Given the description of an element on the screen output the (x, y) to click on. 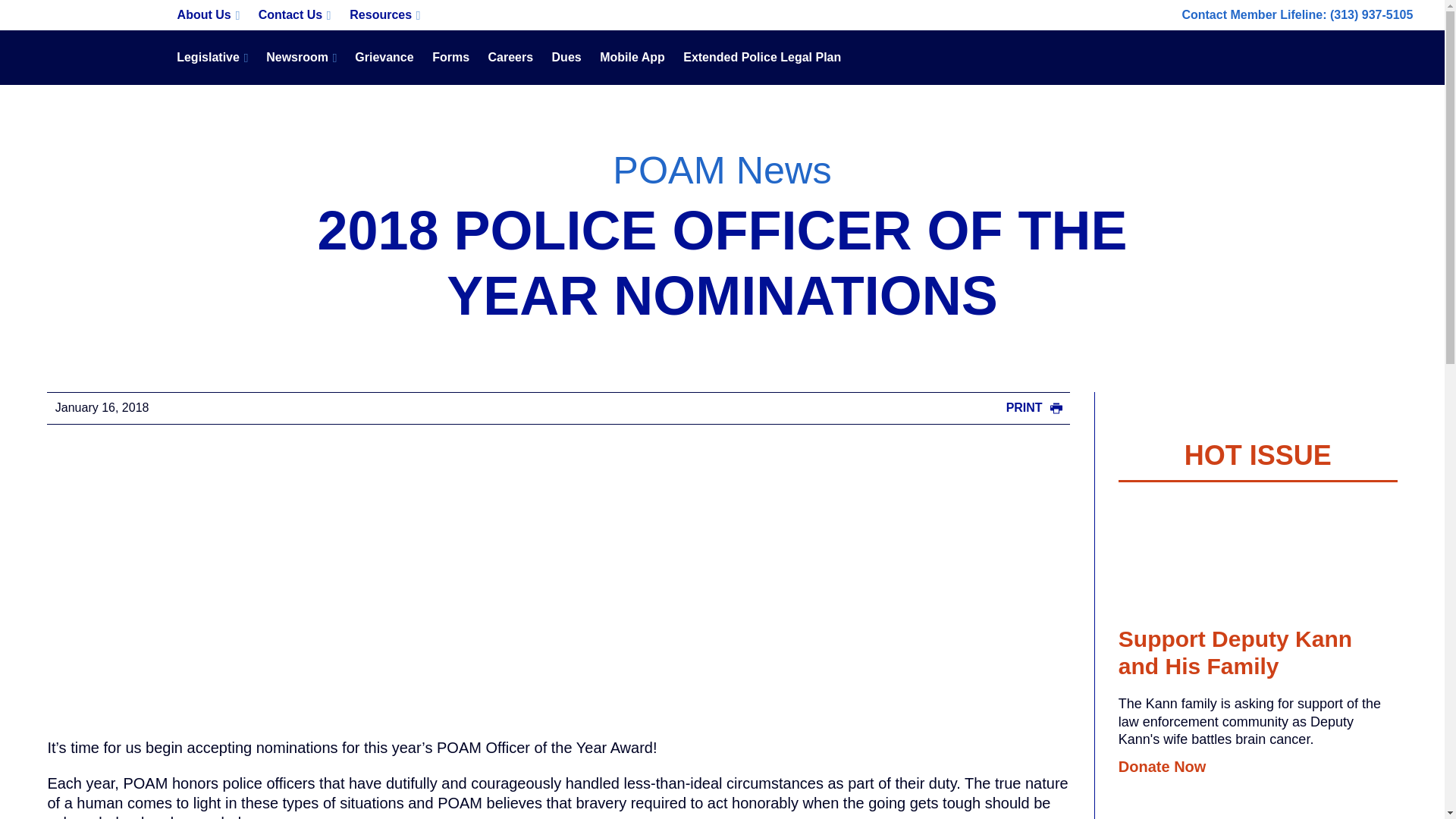
Forms (451, 57)
Mobile App (632, 57)
Newsroom (301, 57)
Grievance (383, 57)
Police Officers Association of Michigan (85, 57)
Legislative (212, 57)
Careers (510, 57)
Resources (385, 15)
Contact Us (293, 15)
About Us (207, 15)
